Given the description of an element on the screen output the (x, y) to click on. 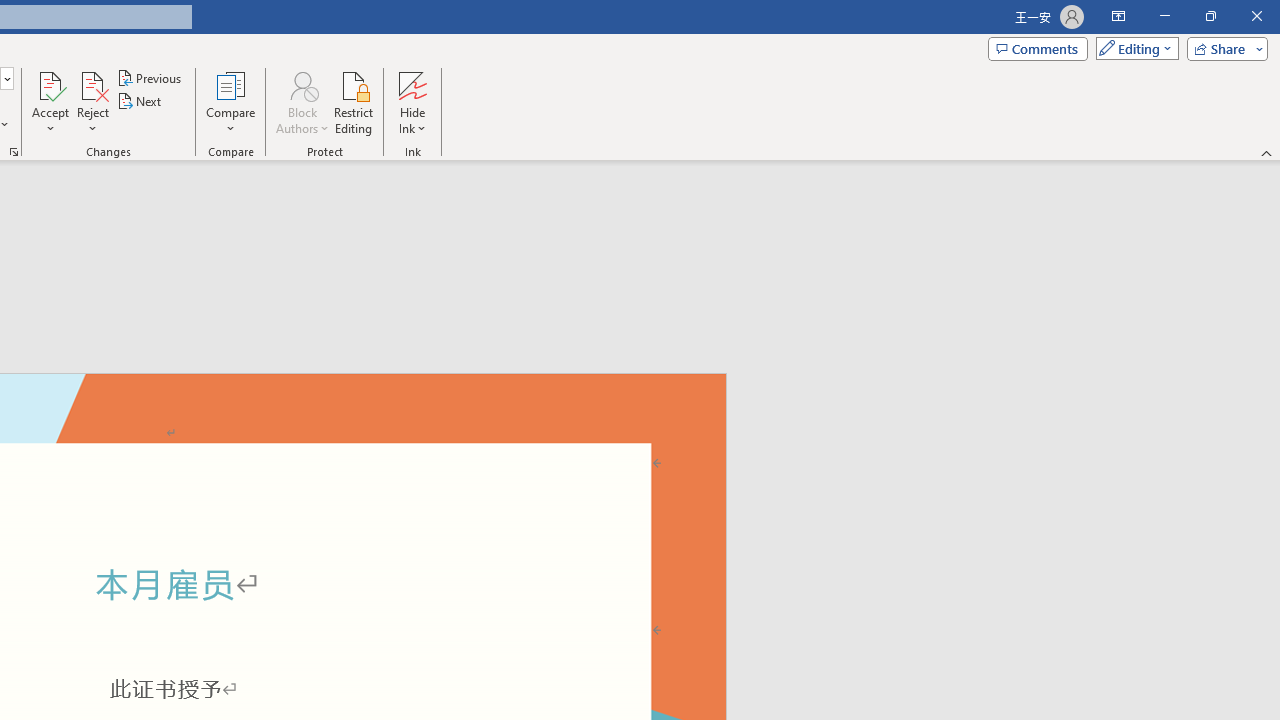
Collapse the Ribbon (1267, 152)
Accept and Move to Next (50, 84)
Compare (230, 102)
Restrict Editing (353, 102)
Block Authors (302, 102)
Minimize (1164, 16)
Reject and Move to Next (92, 84)
Mode (1133, 47)
